Given the description of an element on the screen output the (x, y) to click on. 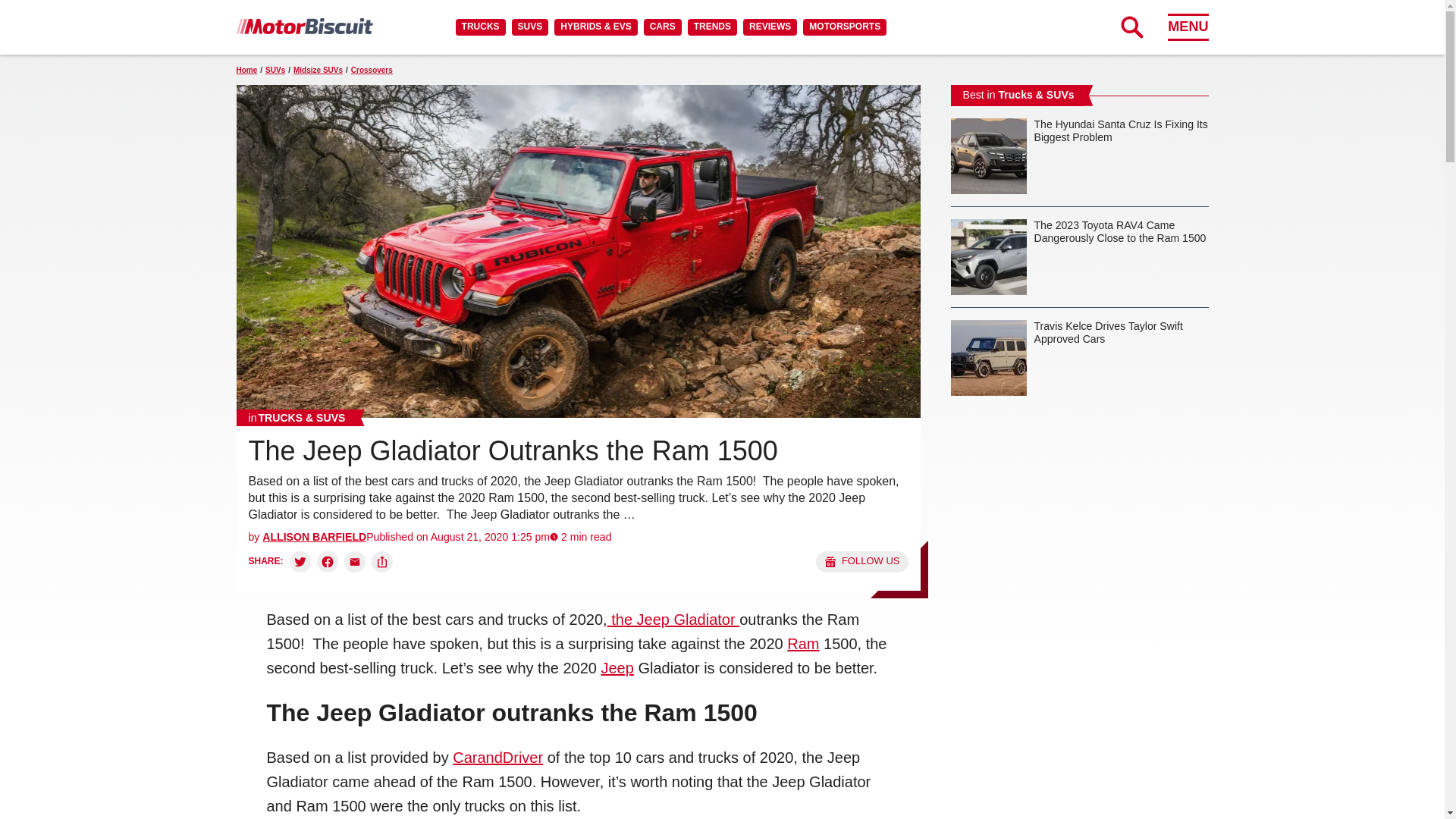
SUVS (530, 26)
REVIEWS (769, 26)
Expand Search (1131, 26)
TRENDS (711, 26)
Copy link and share:  (382, 561)
MENU (1187, 26)
Follow us on Google News (861, 561)
TRUCKS (480, 26)
MotorBiscuit (303, 26)
CARS (662, 26)
